Given the description of an element on the screen output the (x, y) to click on. 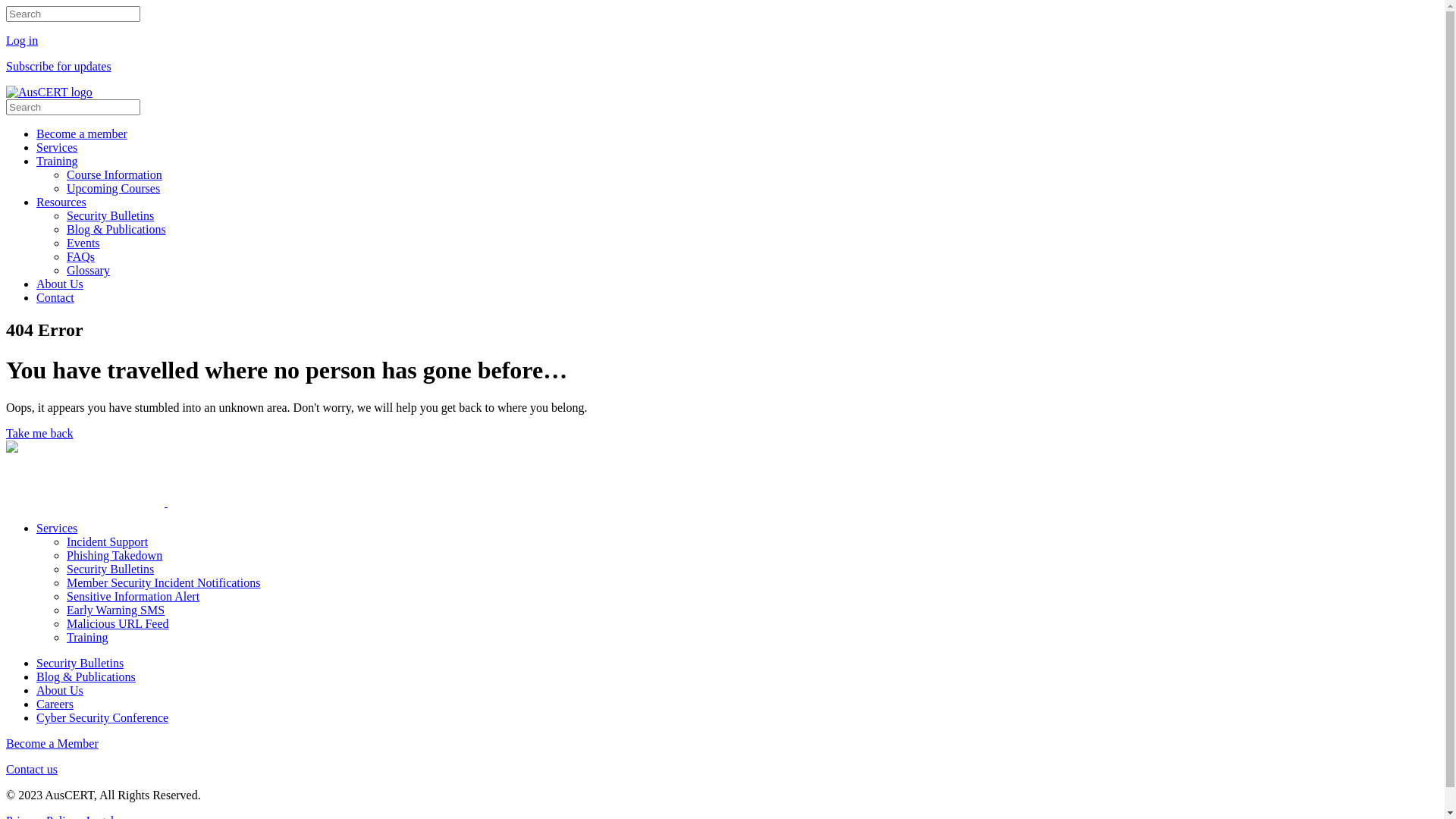
Blog & Publications Element type: text (116, 228)
Upcoming Courses Element type: text (113, 188)
Subscribe for updates Element type: text (722, 66)
Security Bulletins Element type: text (109, 215)
Security Bulletins Element type: text (79, 662)
FAQs Element type: text (80, 256)
Early Warning SMS Element type: text (115, 609)
Contact Element type: text (55, 297)
About Us Element type: text (59, 690)
Blog & Publications Element type: text (85, 676)
Member Security Incident Notifications Element type: text (163, 582)
Become a member Element type: text (81, 133)
Events Element type: text (83, 242)
Cyber Security Conference Element type: text (102, 717)
Log in Element type: text (722, 40)
Services Element type: text (56, 147)
Careers Element type: text (54, 703)
Take me back Element type: text (722, 433)
Security Bulletins Element type: text (109, 568)
Resources Element type: text (61, 201)
Services Element type: text (56, 527)
Phishing Takedown Element type: text (114, 555)
Course Information Element type: text (114, 174)
Sensitive Information Alert Element type: text (132, 595)
Training Element type: text (87, 636)
Contact us Element type: text (722, 769)
Glossary Element type: text (87, 269)
Become a Member Element type: text (722, 743)
Training Element type: text (57, 160)
Malicious URL Feed Element type: text (117, 623)
About Us Element type: text (59, 283)
Incident Support Element type: text (106, 541)
